Given the description of an element on the screen output the (x, y) to click on. 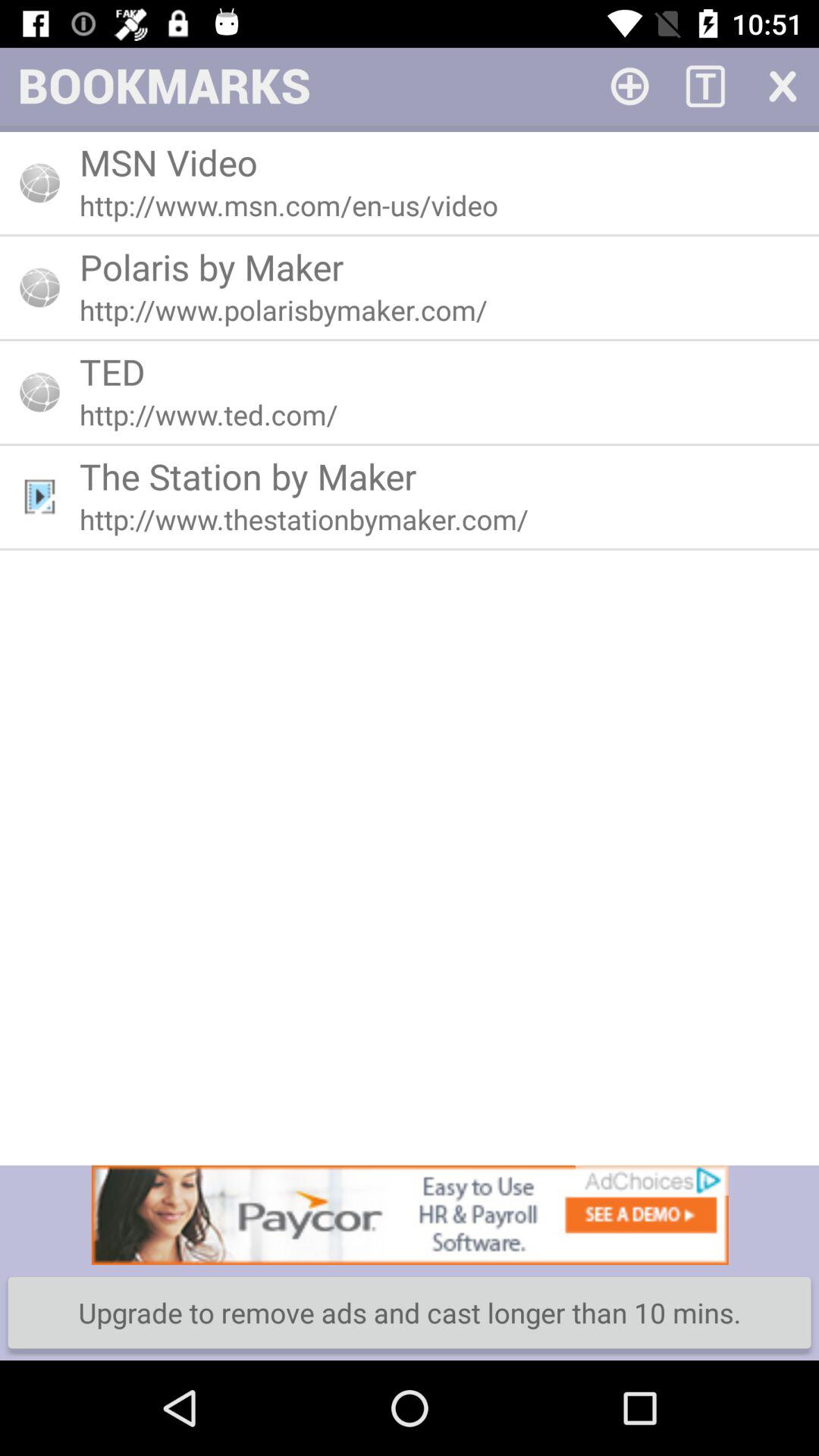
close the bookmarks (781, 85)
